Given the description of an element on the screen output the (x, y) to click on. 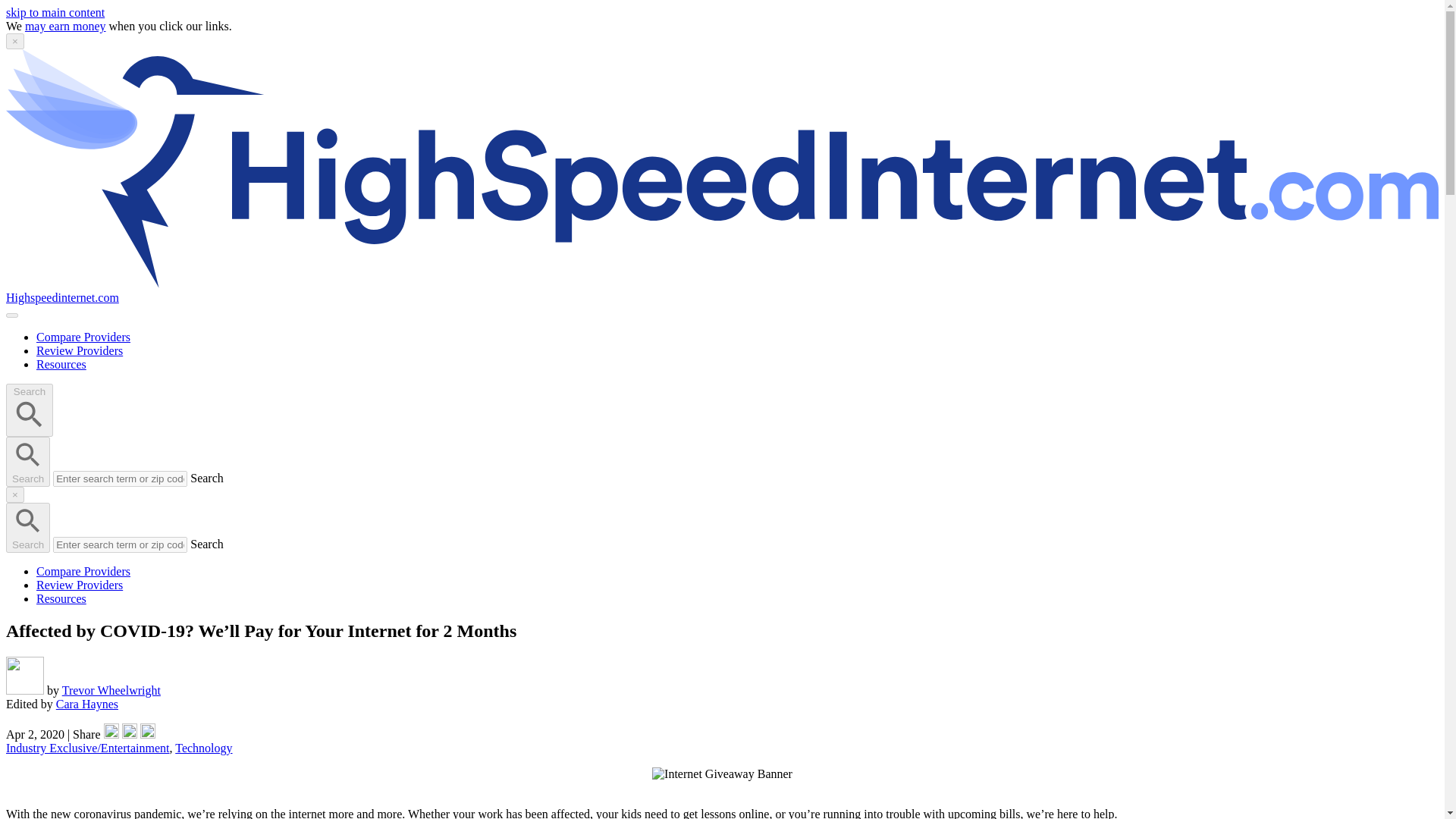
Compare Providers (83, 336)
Toggle Menu (11, 314)
Posts by Trevor Wheelwright (111, 689)
Trevor Wheelwright (111, 689)
Cara Haynes (86, 703)
Review Providers (79, 584)
Resources (60, 598)
skip to main content (54, 11)
Review Providers (79, 350)
Compare Providers (83, 571)
Technology (202, 748)
may earn money (65, 25)
Close (14, 41)
Resources (60, 364)
